Given the description of an element on the screen output the (x, y) to click on. 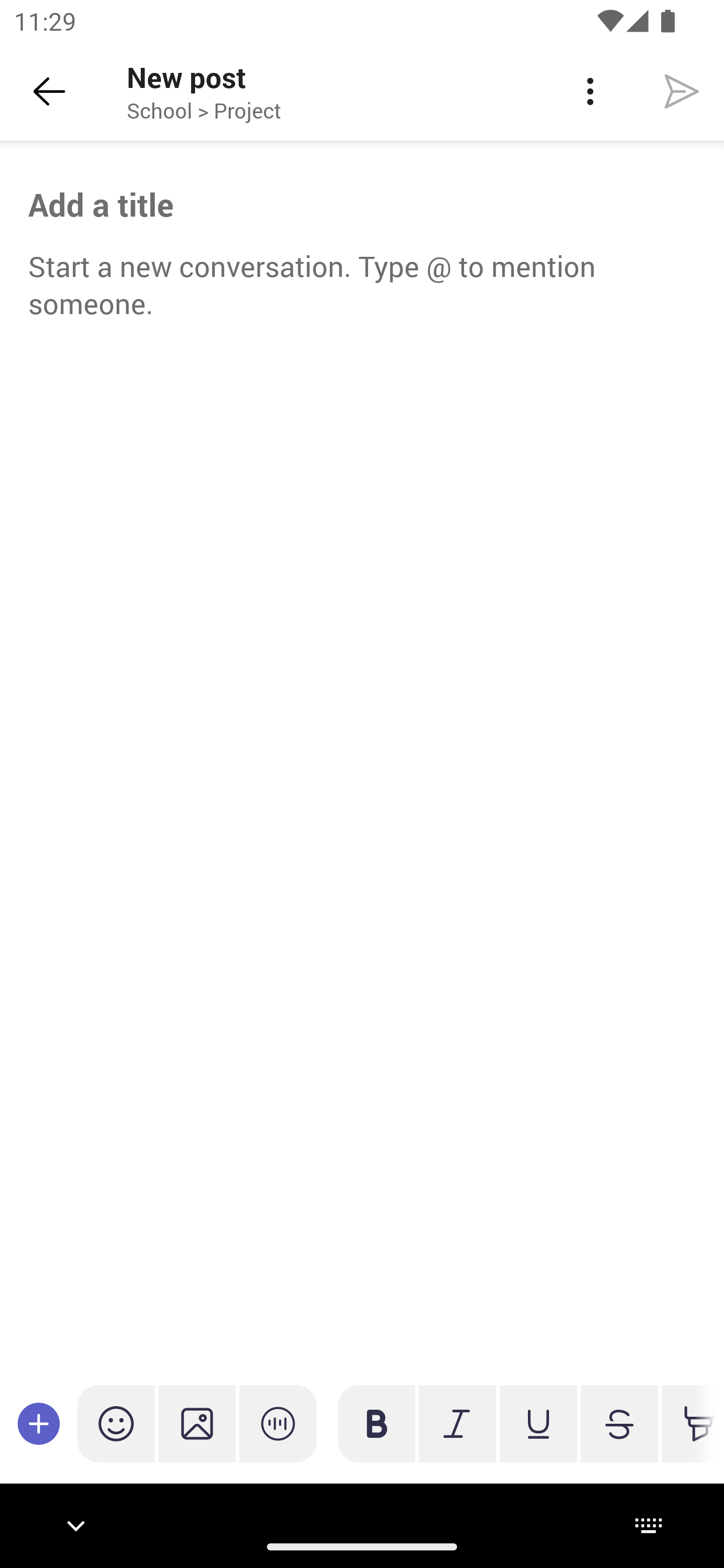
Back (49, 91)
Email options (589, 91)
Send message (681, 90)
Add a title (362, 204)
Compose options, collapsed (38, 1423)
GIFs and emojis picker (115, 1423)
Media (197, 1423)
Record audio message (278, 1423)
Bold (376, 1423)
Italic (456, 1423)
Underline (538, 1423)
Strikethrough (619, 1423)
Select text highlight color (688, 1423)
